Given the description of an element on the screen output the (x, y) to click on. 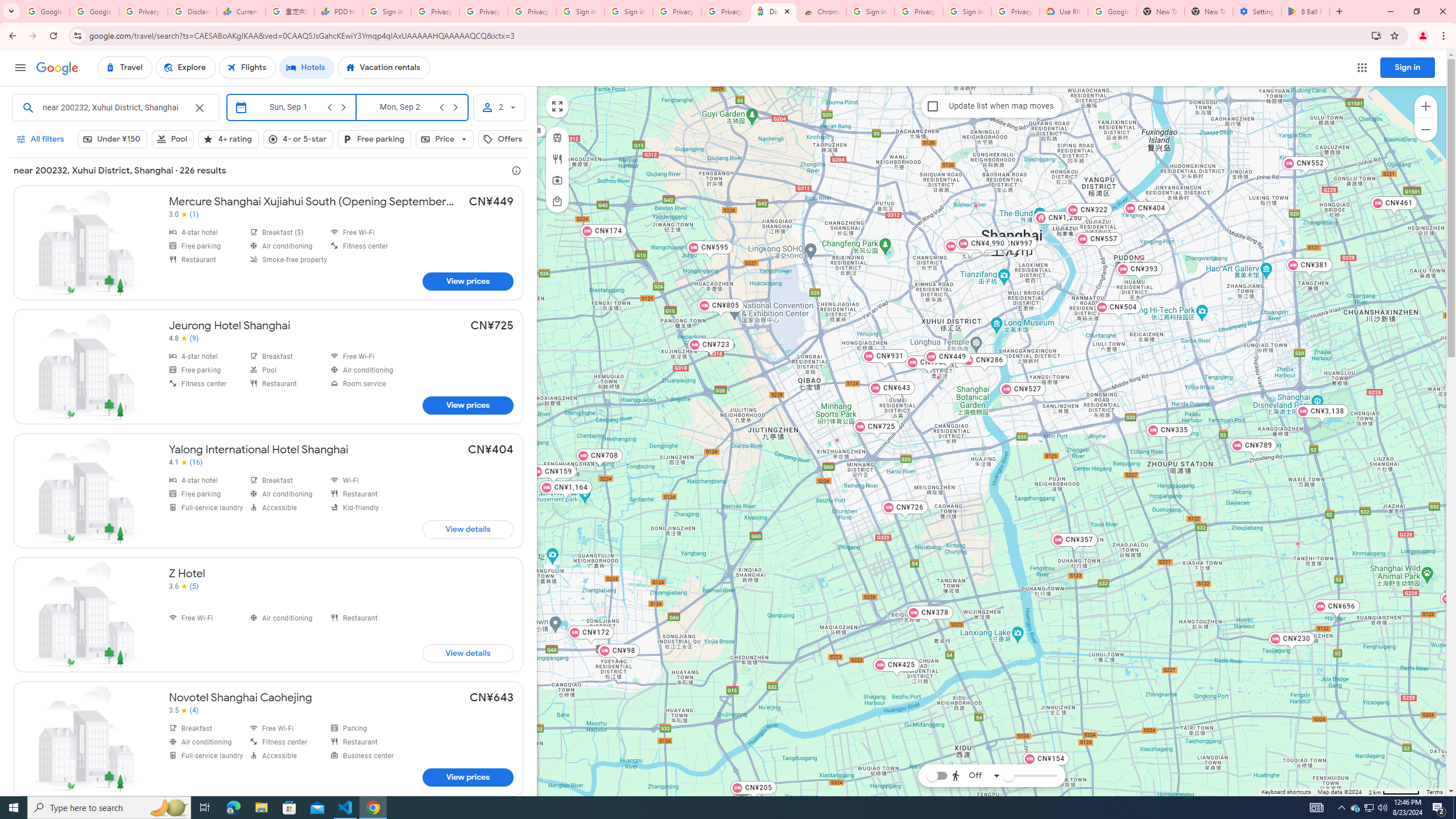
Transit (556, 138)
Price, Not selected (445, 139)
Search for places, hotels and more (114, 107)
Offers, Not selected (510, 139)
Pool, Amenities, Not selected (173, 139)
Yalong International Hotel Shanghai (268, 490)
Google Workspace Admin Community (45, 11)
Off (975, 775)
Mercure Shanghai Xujiahui South (Opening September 2019) (268, 242)
Learn more about these results (515, 170)
